Given the description of an element on the screen output the (x, y) to click on. 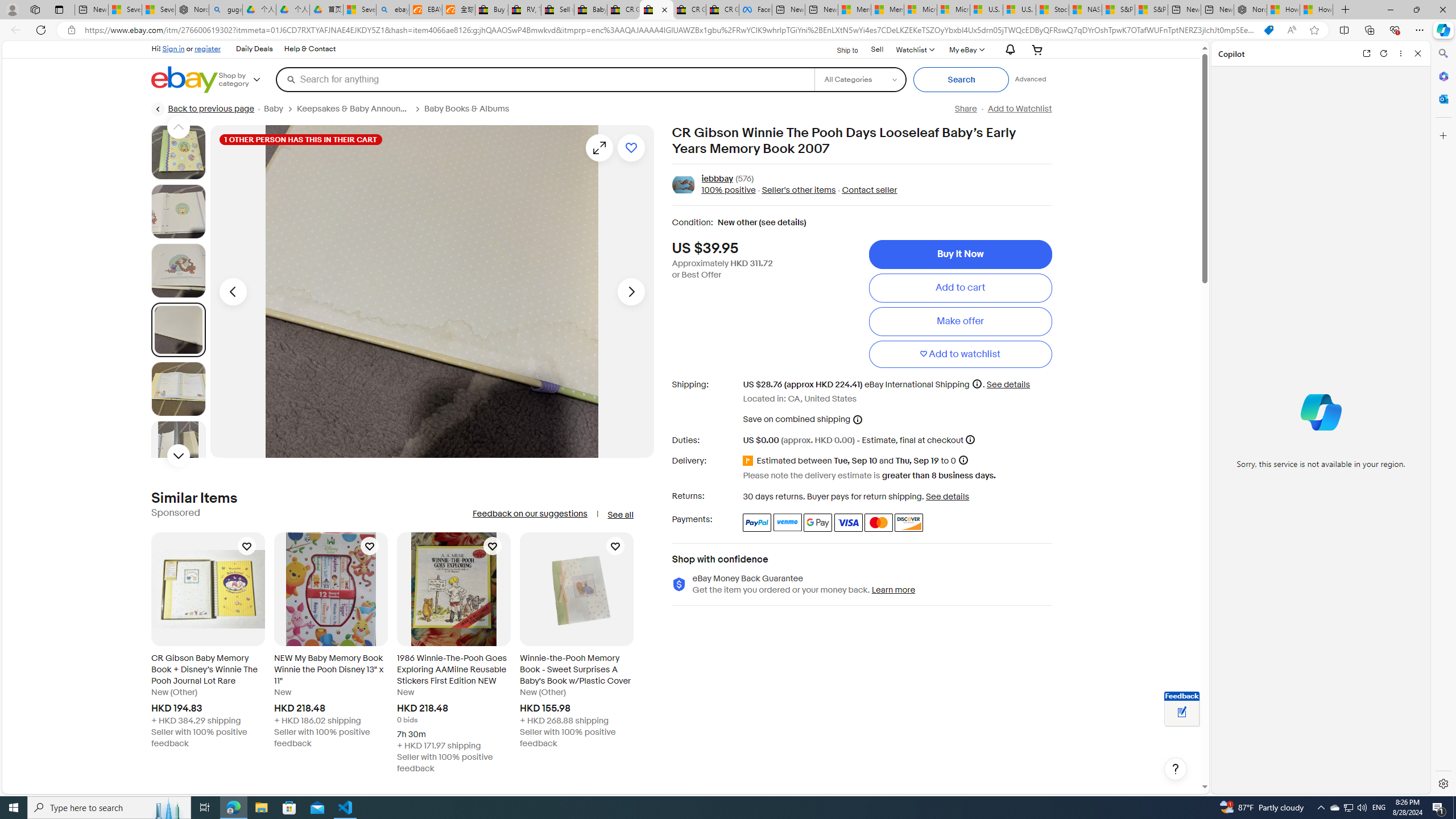
Make offer (959, 320)
Baby Books & Albums (466, 108)
  Seller's other items (795, 190)
Add to cart (959, 287)
Picture 5 of 22 (178, 388)
Picture 2 of 22 (178, 211)
Sell (877, 49)
My eBay (966, 49)
Your shopping cart (1037, 49)
